Given the description of an element on the screen output the (x, y) to click on. 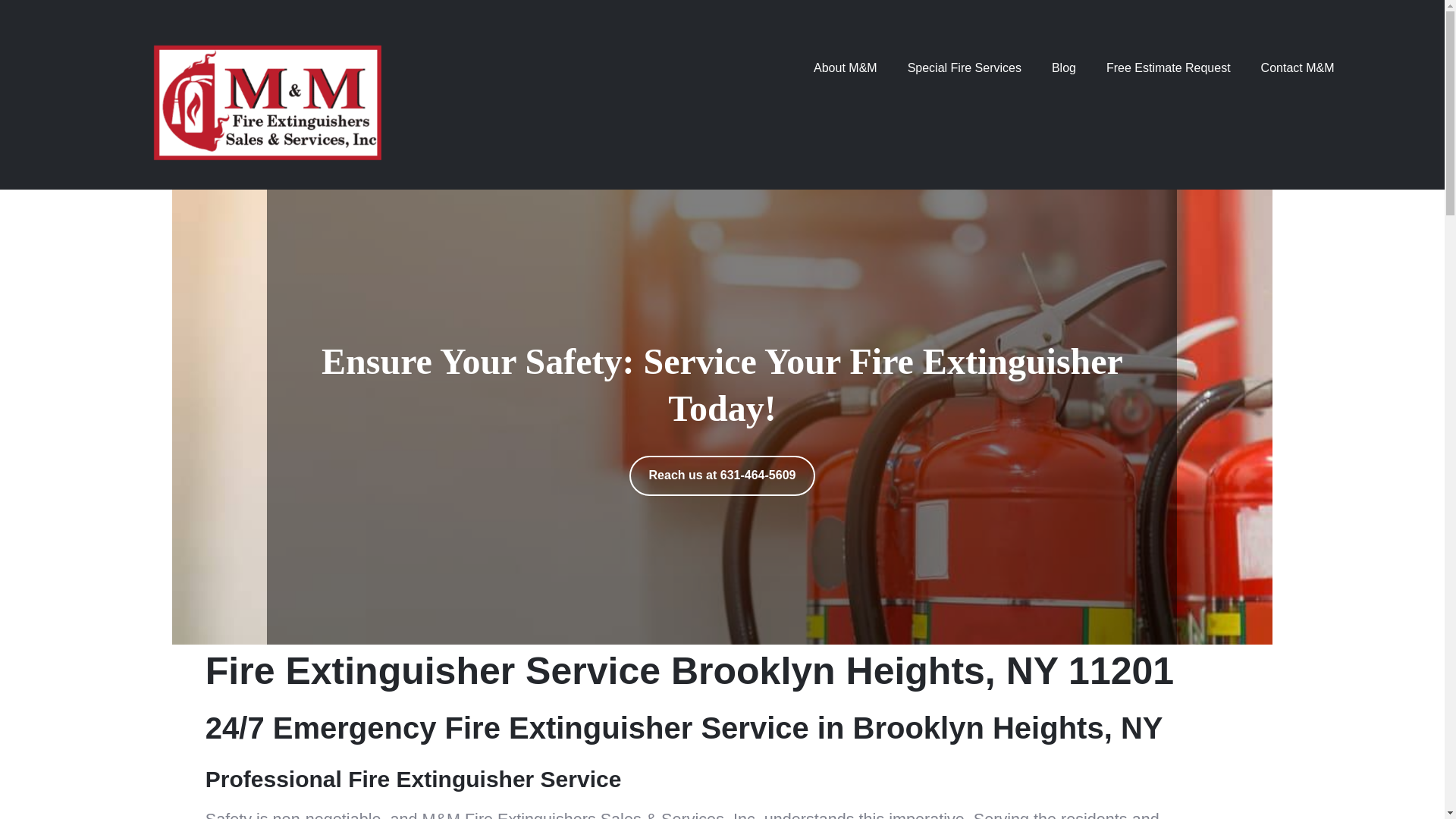
Special Fire Services (964, 68)
Free Estimate Request (1168, 68)
Reach us at 631-464-5609 (721, 475)
